Given the description of an element on the screen output the (x, y) to click on. 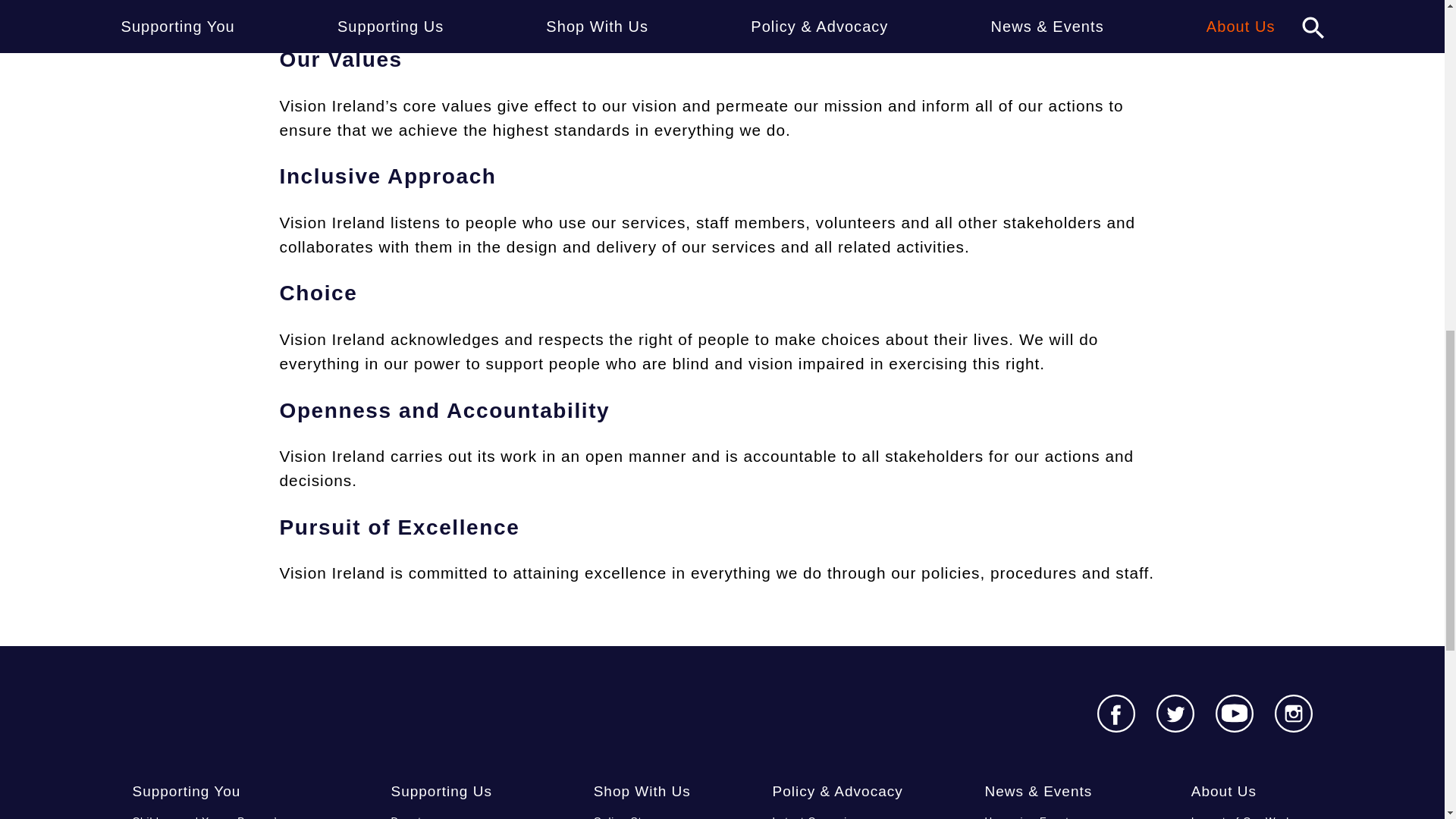
twitter icon (1174, 713)
facebook icon (1115, 713)
youtube icon (1233, 713)
